Given the description of an element on the screen output the (x, y) to click on. 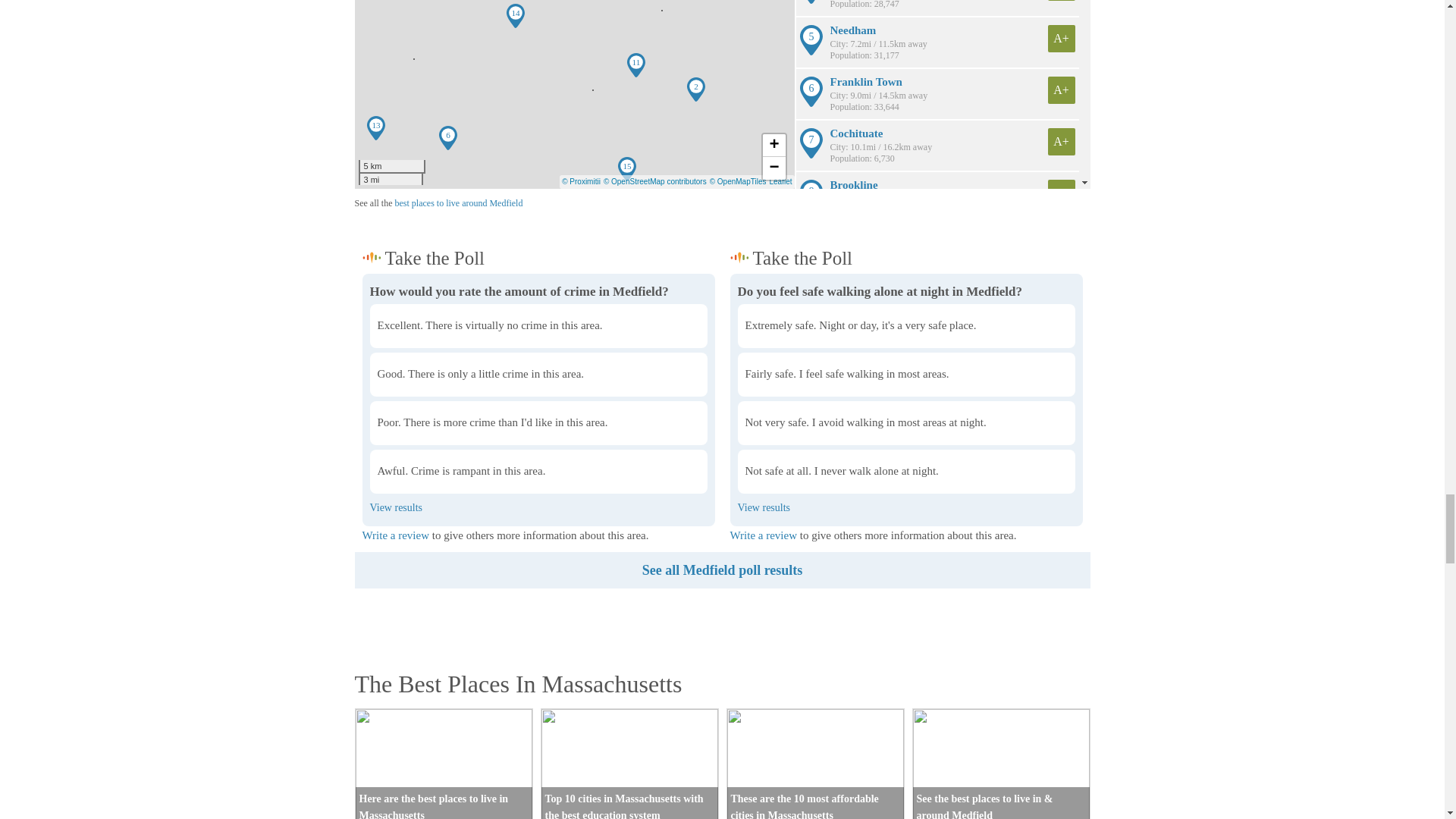
3 (374, 286)
3 (741, 286)
1 (374, 286)
2 (374, 286)
Zoom in (774, 145)
4 (374, 286)
Zoom out (774, 168)
2 (741, 286)
1 (741, 286)
